Given the description of an element on the screen output the (x, y) to click on. 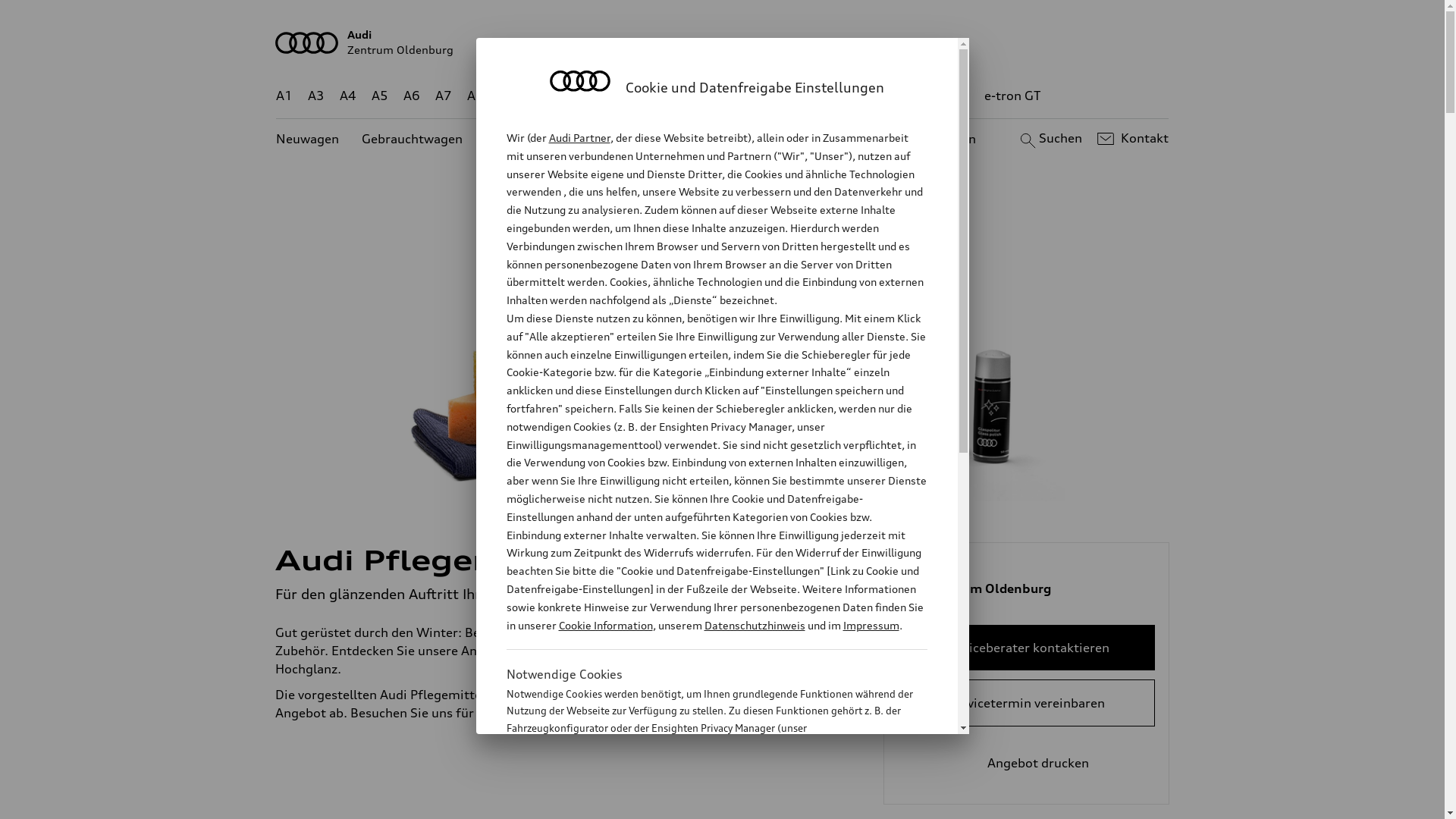
RS Element type: text (908, 95)
A4 Element type: text (347, 95)
Q3 Element type: text (540, 95)
A1 Element type: text (284, 95)
Serviceberater kontaktieren Element type: text (1025, 647)
Q4 e-tron Element type: text (592, 95)
Q8 Element type: text (710, 95)
Cookie Information Element type: text (605, 624)
Impressum Element type: text (871, 624)
A6 Element type: text (411, 95)
Q7 Element type: text (678, 95)
Neuwagen Element type: text (307, 139)
Q2 Element type: text (507, 95)
Cookie Information Element type: text (700, 802)
A5 Element type: text (379, 95)
TT Element type: text (814, 95)
Kundenservice Element type: text (730, 139)
A8 Element type: text (475, 95)
A3 Element type: text (315, 95)
Q8 e-tron Element type: text (763, 95)
Audi
Zentrum Oldenburg Element type: text (722, 42)
g-tron Element type: text (950, 95)
Servicetermin vereinbaren Element type: text (1025, 702)
Angebote Element type: text (636, 139)
R8 Element type: text (861, 95)
Q5 Element type: text (645, 95)
Suchen Element type: text (1049, 138)
Gebrauchtwagen Element type: text (411, 139)
Datenschutzhinweis Element type: text (753, 624)
A7 Element type: text (443, 95)
e-tron GT Element type: text (1012, 95)
Angebot drucken Element type: text (1026, 762)
Kontakt Element type: text (1130, 138)
Audi Partner Element type: text (579, 137)
